Given the description of an element on the screen output the (x, y) to click on. 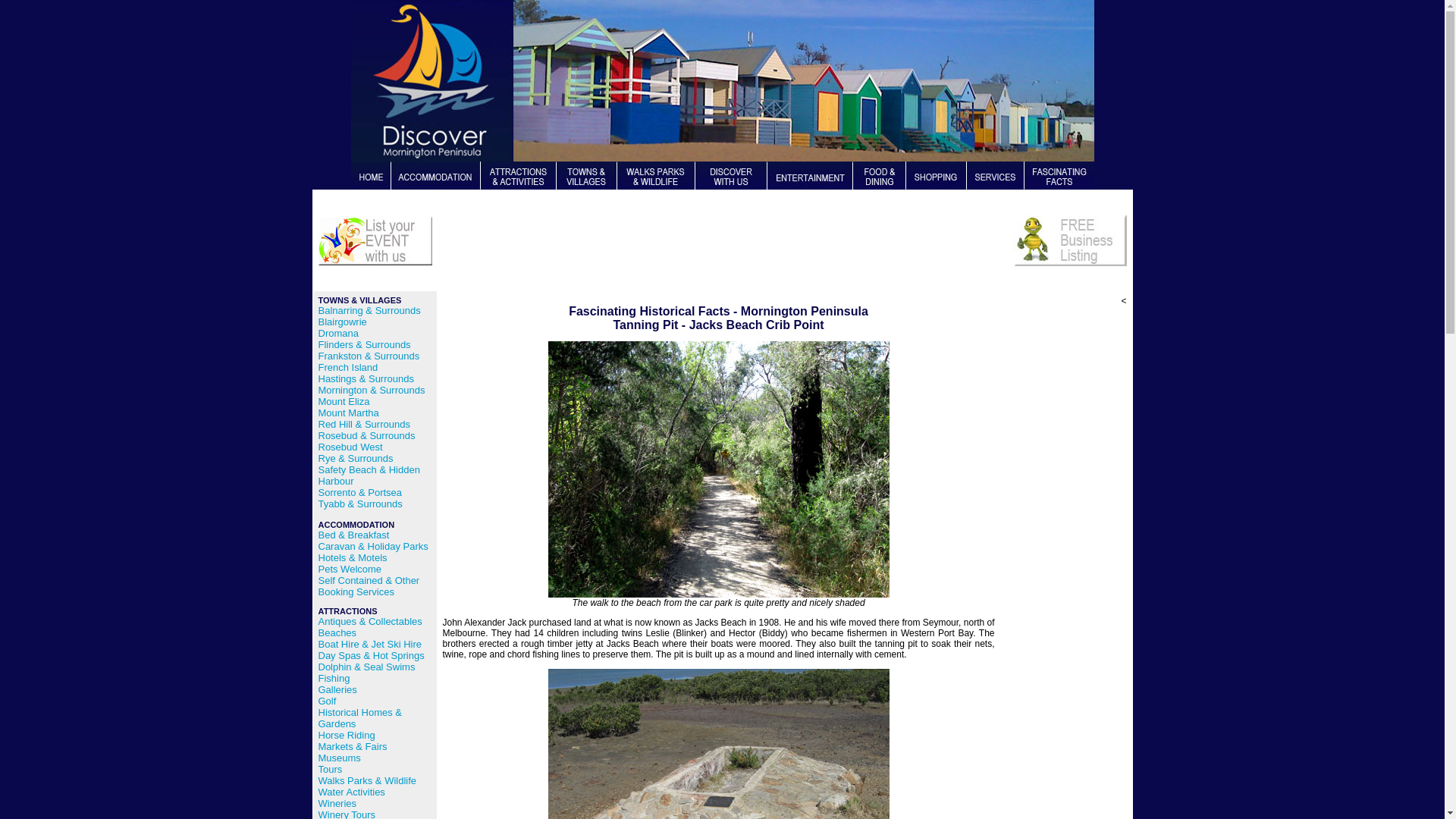
Beaches Element type: text (337, 632)
Sorrento & Portsea Element type: text (360, 492)
Bed & Breakfast Element type: text (353, 534)
Mount Eliza Element type: text (344, 401)
Hotels & Motels Element type: text (352, 557)
Advertisement Element type: hover (718, 250)
Dolphin & Seal Swims Element type: text (366, 666)
Safety Beach & Hidden Harbour Element type: text (369, 475)
Advertisement Element type: hover (1065, 533)
Horse Riding Element type: text (346, 734)
Flinders & Surrounds Element type: text (364, 344)
Historical Homes & Gardens Element type: text (360, 717)
Boat Hire & Jet Ski Hire Element type: text (370, 643)
Fishing Element type: text (334, 678)
TOWNS & VILLAGES Element type: text (359, 299)
Caravan & Holiday Parks Element type: text (373, 546)
Galleries Element type: text (337, 689)
Pets Welcome Element type: text (350, 568)
Antiques & Collectables Element type: text (370, 621)
Booking Services Element type: text (356, 591)
Hastings & Surrounds Element type: text (366, 378)
Wineries Element type: text (337, 803)
Museums Element type: text (339, 757)
Walks Parks & Wildlife Element type: text (367, 780)
Tours Element type: text (330, 769)
ACCOMMODATION Element type: text (356, 524)
Dromana Element type: text (338, 332)
Rye & Surrounds Element type: text (355, 458)
Balnarring & Surrounds Element type: text (369, 310)
Water Activities Element type: text (351, 791)
Day Spas & Hot Springs Element type: text (371, 655)
Rosebud & Surrounds Element type: text (366, 435)
Markets & Fairs Element type: text (352, 746)
French Island Element type: text (348, 367)
Mornington & Surrounds Element type: text (371, 389)
Frankston & Surrounds Element type: text (369, 355)
Red Hill & Surrounds Element type: text (364, 423)
Self Contained & Other Element type: text (369, 580)
ATTRACTIONS Element type: text (356, 620)
Rosebud West Element type: text (350, 446)
Mount Martha Element type: text (348, 412)
Tyabb & Surrounds Element type: text (360, 503)
Blairgowrie Element type: text (342, 321)
Golf Element type: text (327, 700)
